Given the description of an element on the screen output the (x, y) to click on. 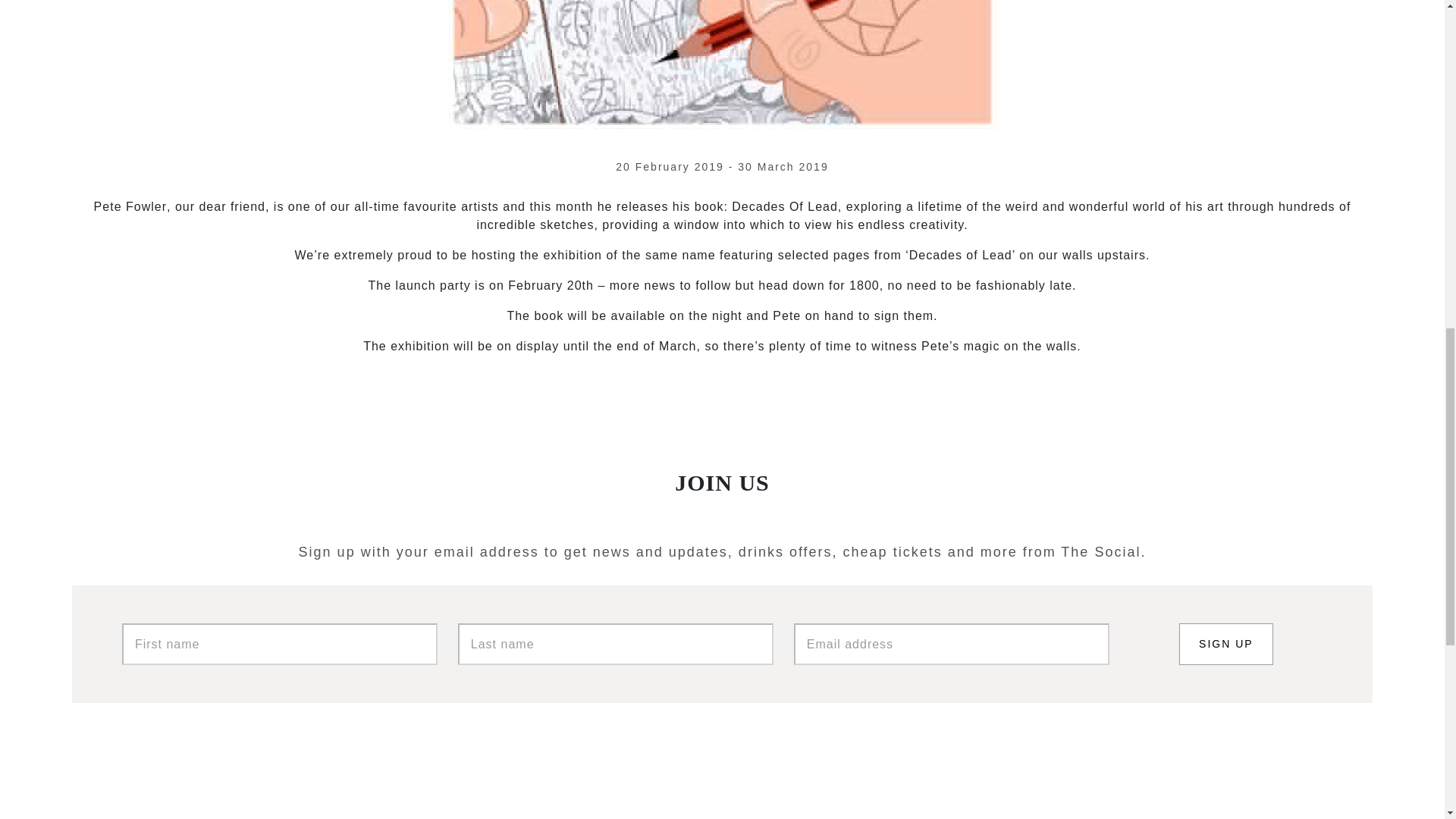
Sign up (1225, 644)
Sign up (1225, 644)
